Given the description of an element on the screen output the (x, y) to click on. 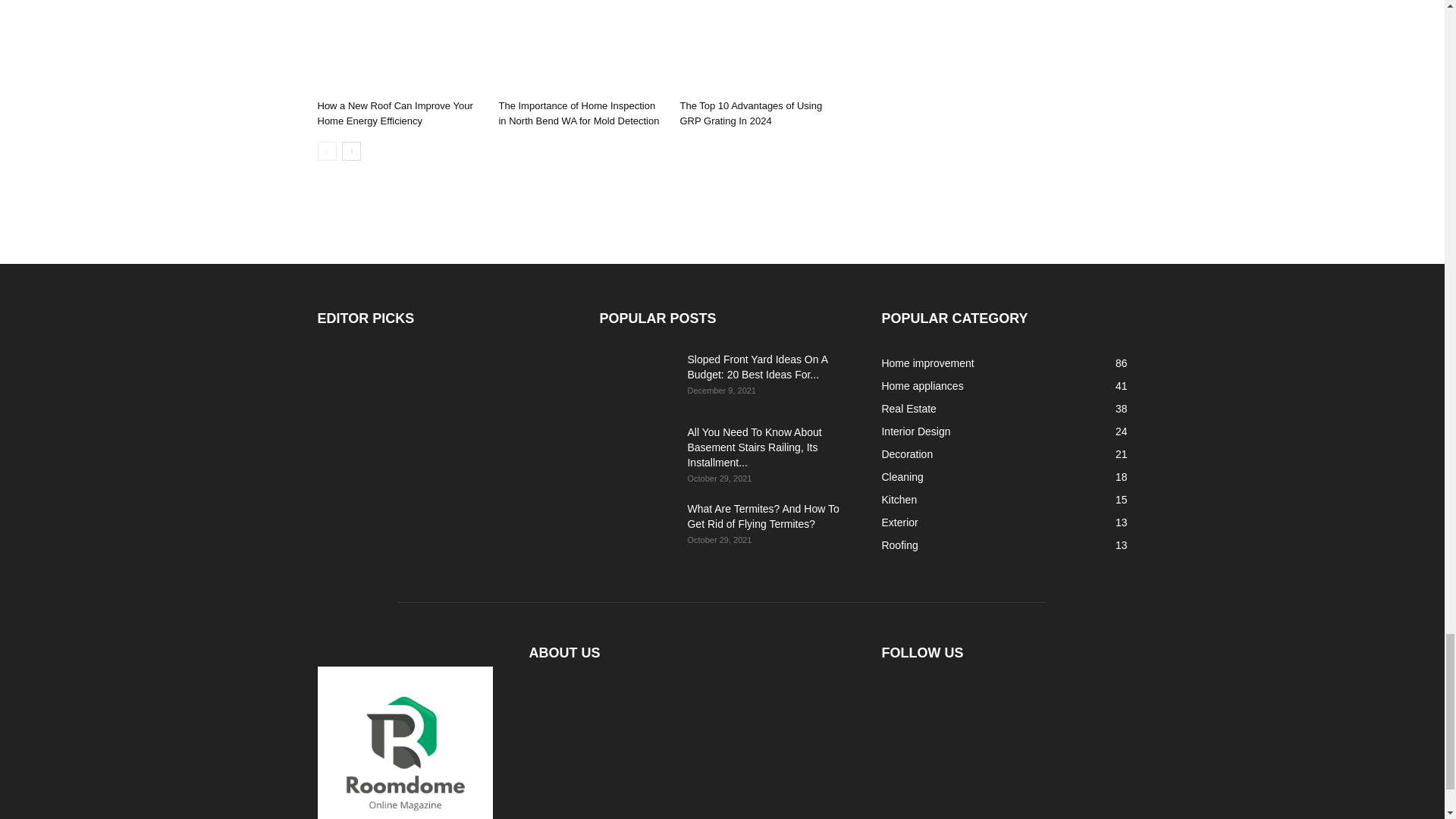
How a New Roof Can Improve Your Home Energy Efficiency (394, 112)
How a New Roof Can Improve Your Home Energy Efficiency (399, 46)
